Given the description of an element on the screen output the (x, y) to click on. 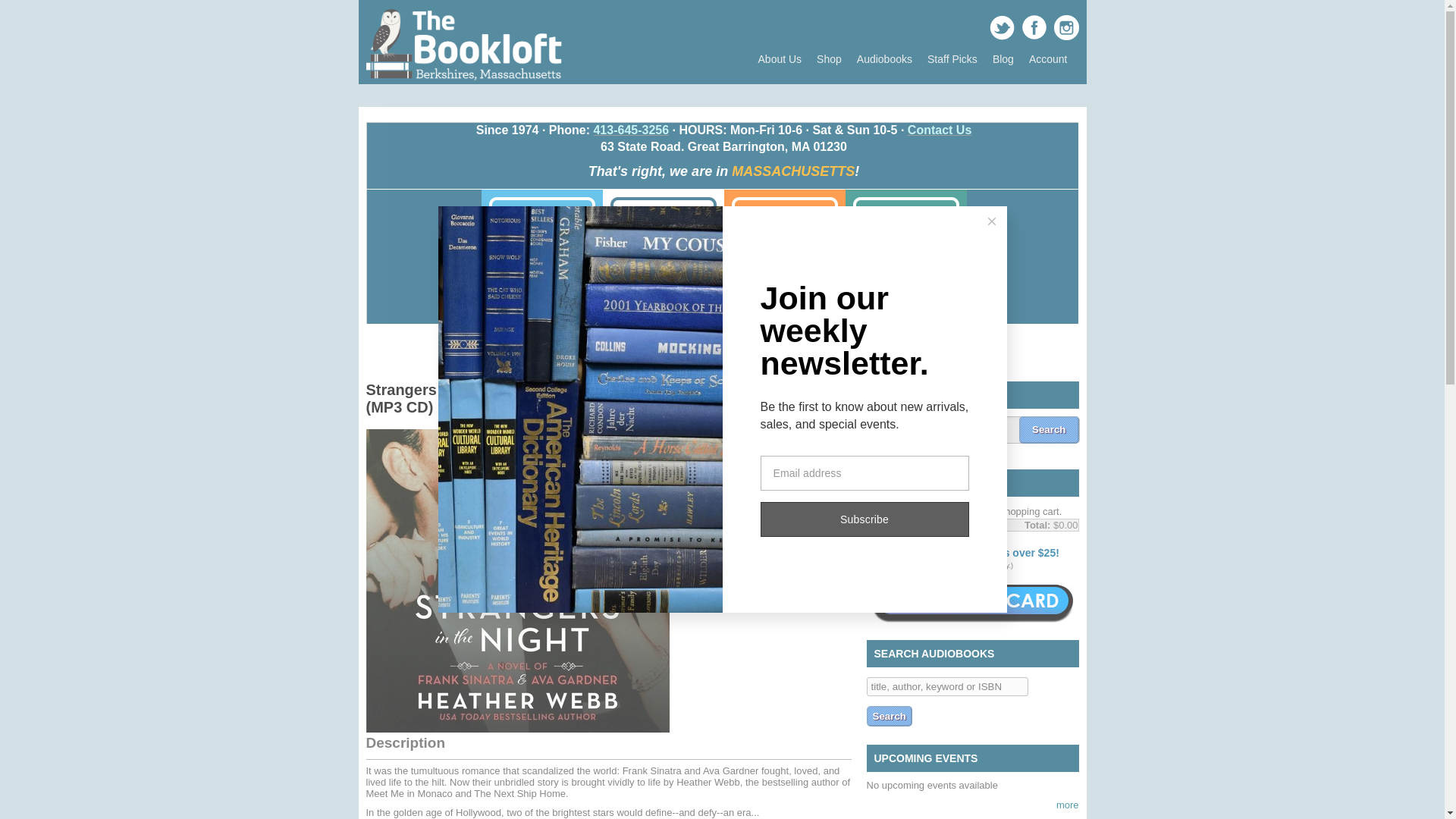
Search (1048, 429)
Contact Us (939, 129)
Chris Andrew Ciulla (789, 427)
Audiobooks (884, 58)
more (1067, 804)
Cassandra Campbell (737, 435)
View your shopping cart. (879, 484)
413-645-3256 (630, 129)
Search (1048, 429)
Shop (828, 58)
title, author, keyword or ISBN (946, 686)
Enter title, author, keyword or ISBN. (946, 686)
Search (888, 715)
Staff Picks (952, 58)
Blog (1003, 58)
